Given the description of an element on the screen output the (x, y) to click on. 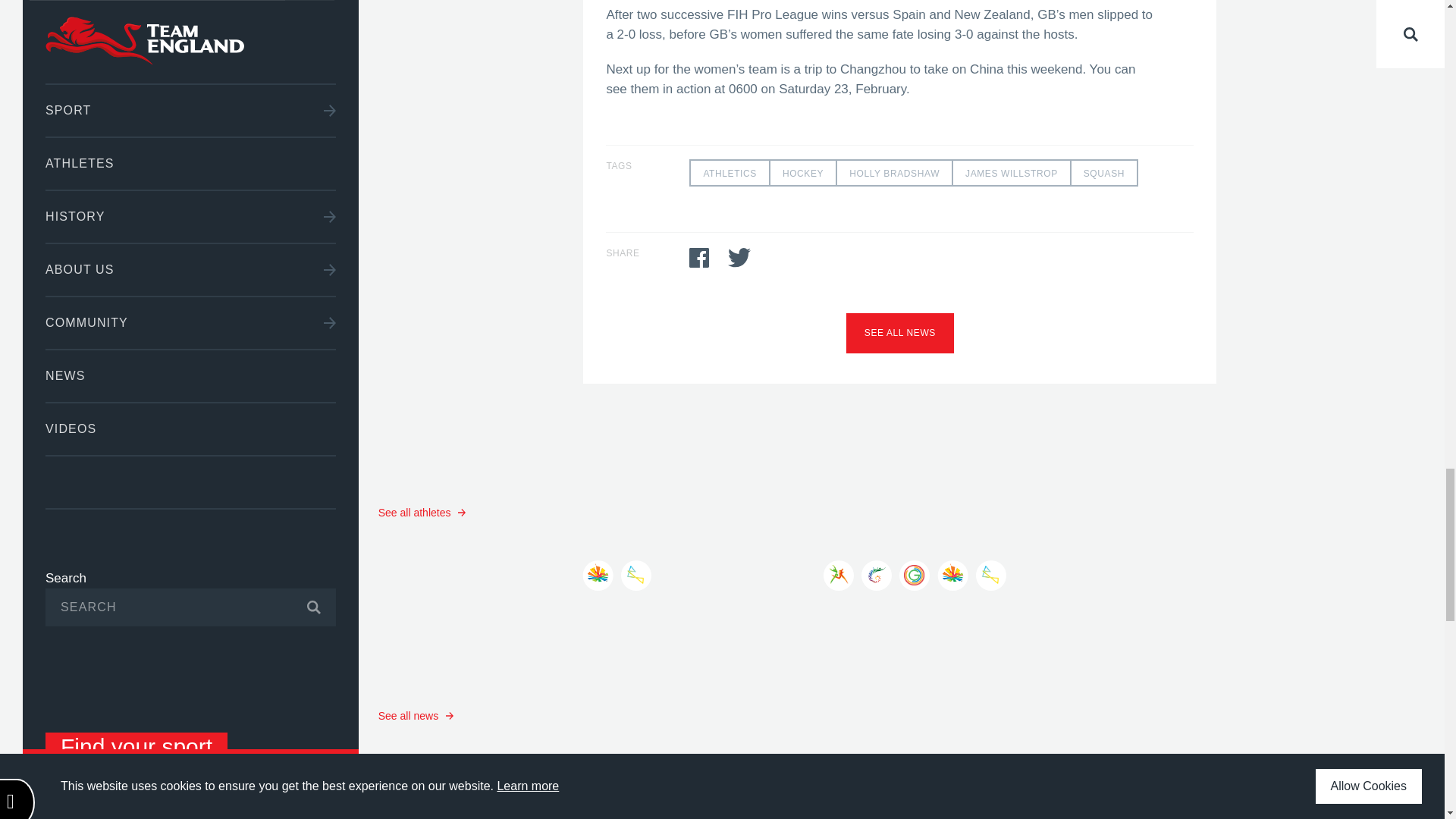
Share on Twitter (739, 257)
Share on Facebook (698, 257)
